Given the description of an element on the screen output the (x, y) to click on. 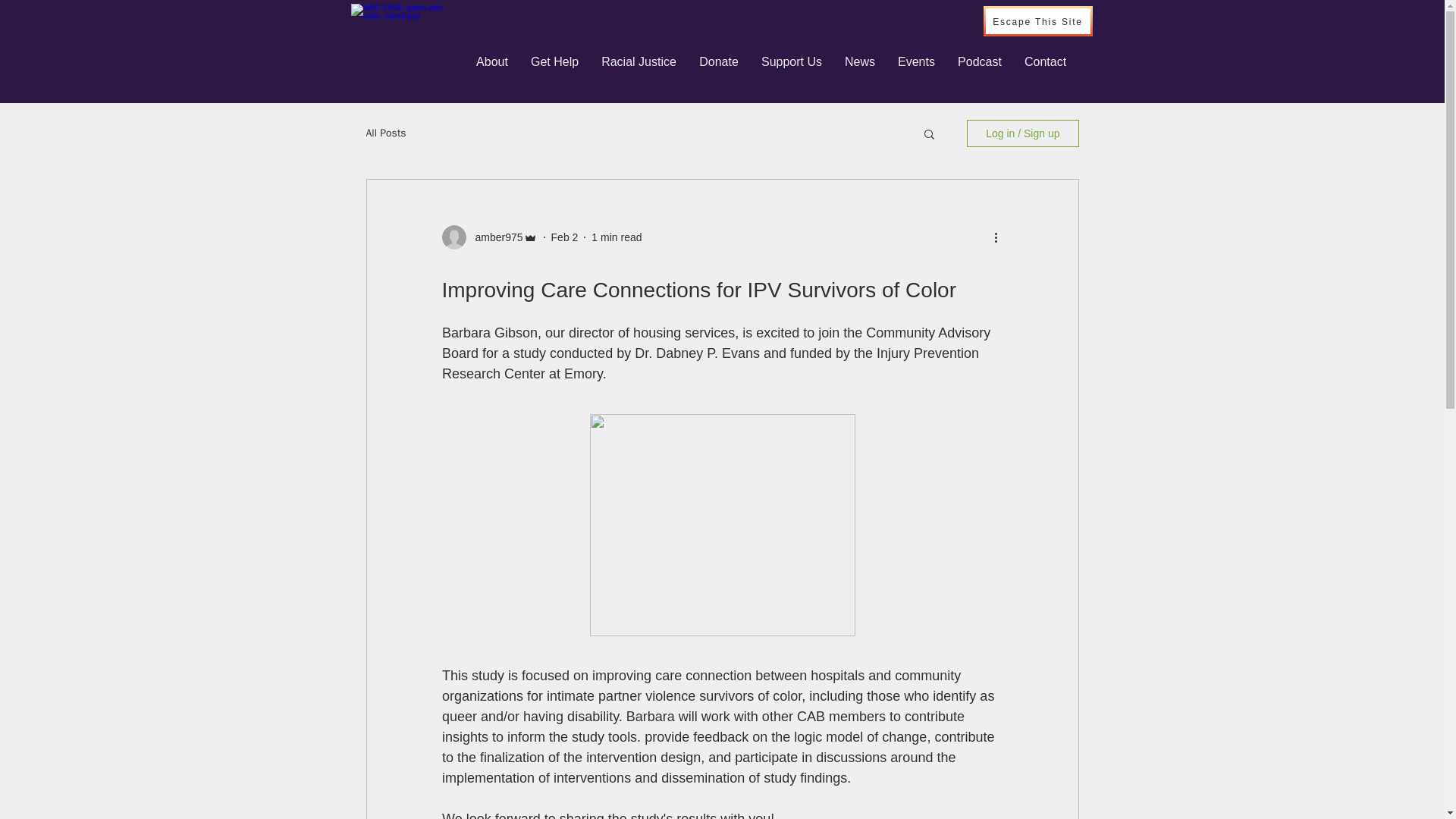
Racial Justice (638, 61)
All Posts (385, 133)
News (859, 61)
Escape This Site (1037, 20)
Feb 2 (564, 236)
1 min read (616, 236)
amber975 (493, 236)
Podcast (979, 61)
About (491, 61)
Contact (1045, 61)
Donate (718, 61)
Support Us (790, 61)
